Given the description of an element on the screen output the (x, y) to click on. 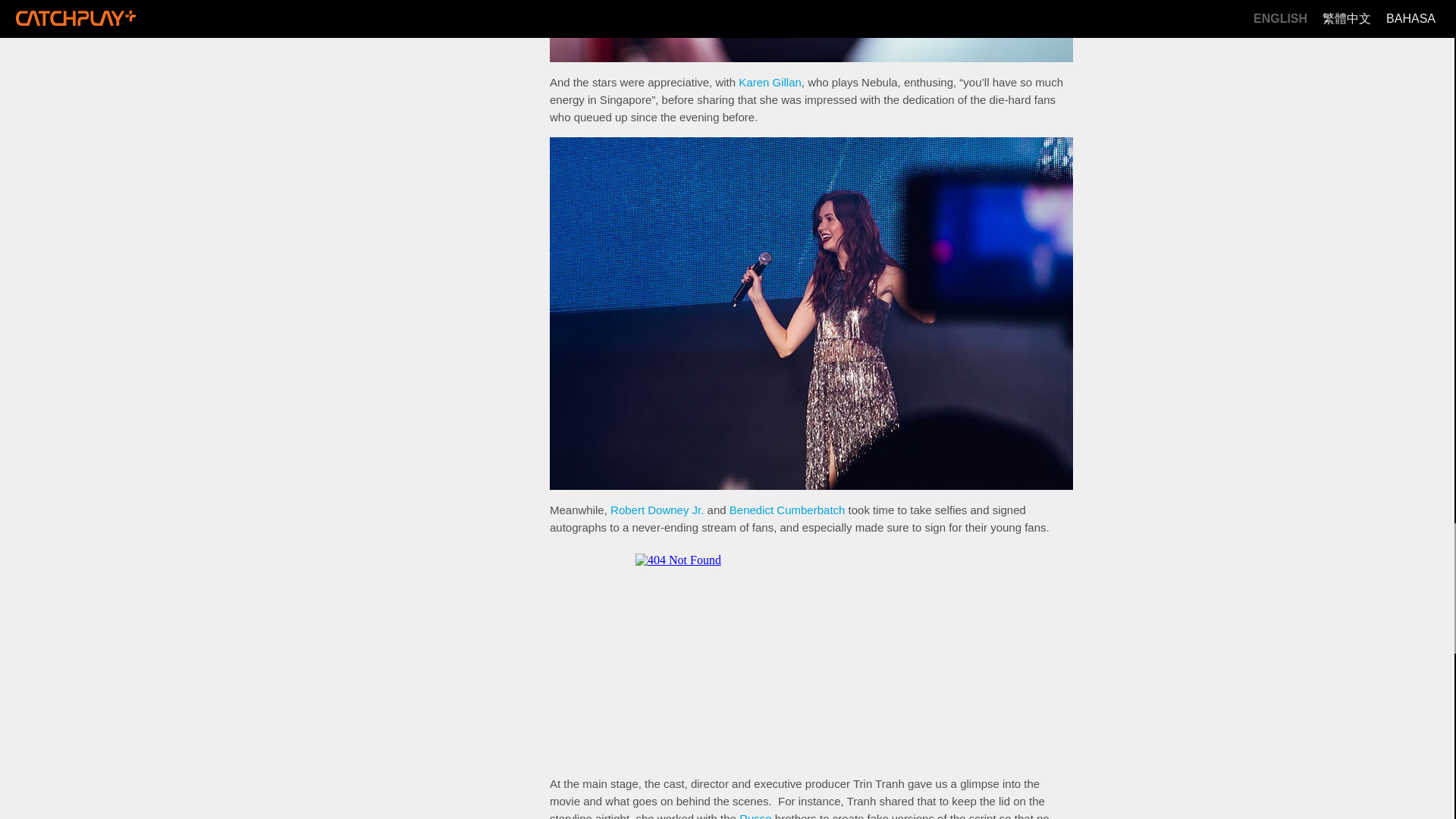
Karen Gillan (770, 82)
Robert Downey Jr. (656, 509)
Russo (755, 815)
Benedict Cumberbatch (787, 509)
